Given the description of an element on the screen output the (x, y) to click on. 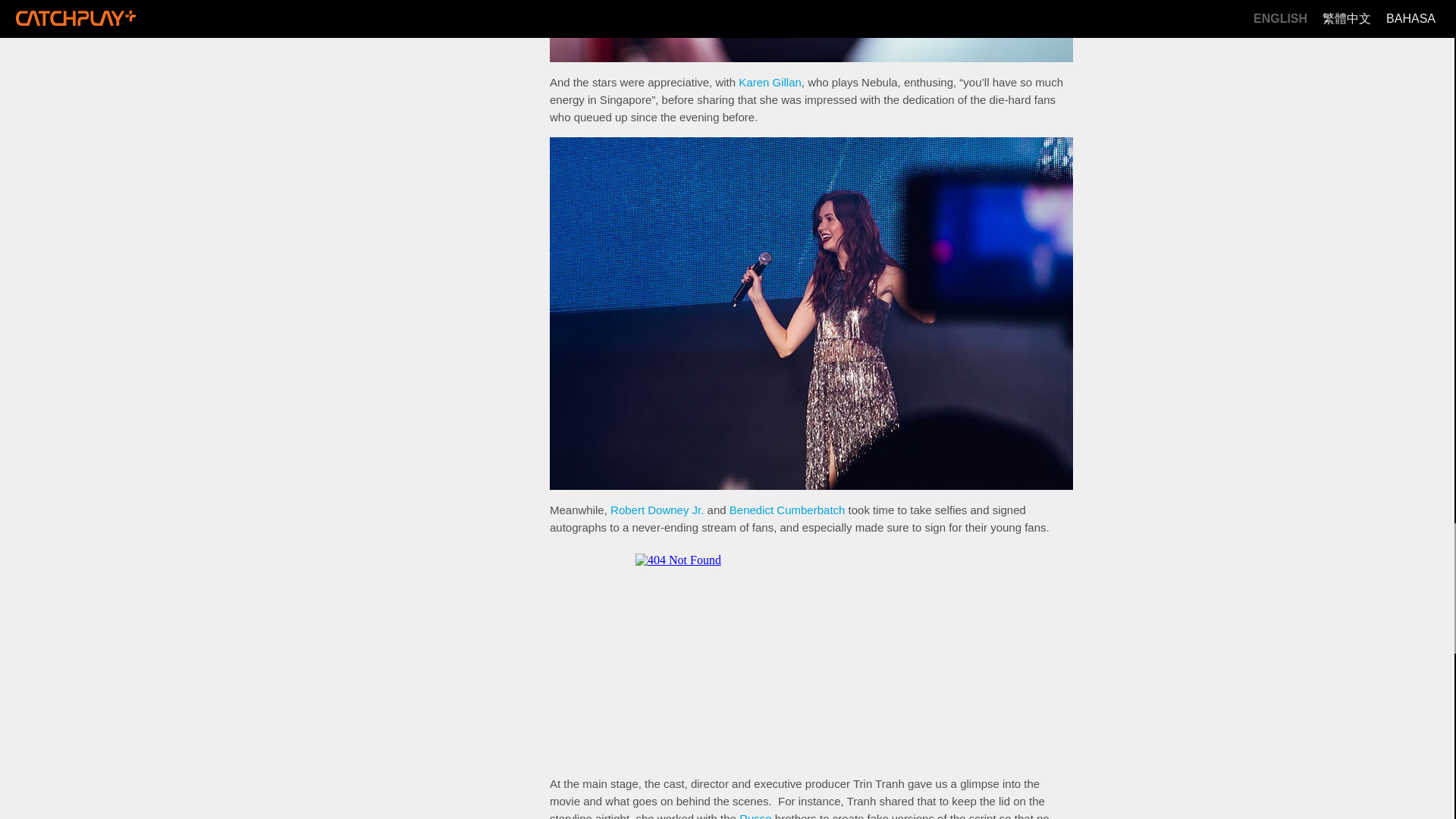
Karen Gillan (770, 82)
Robert Downey Jr. (656, 509)
Russo (755, 815)
Benedict Cumberbatch (787, 509)
